Given the description of an element on the screen output the (x, y) to click on. 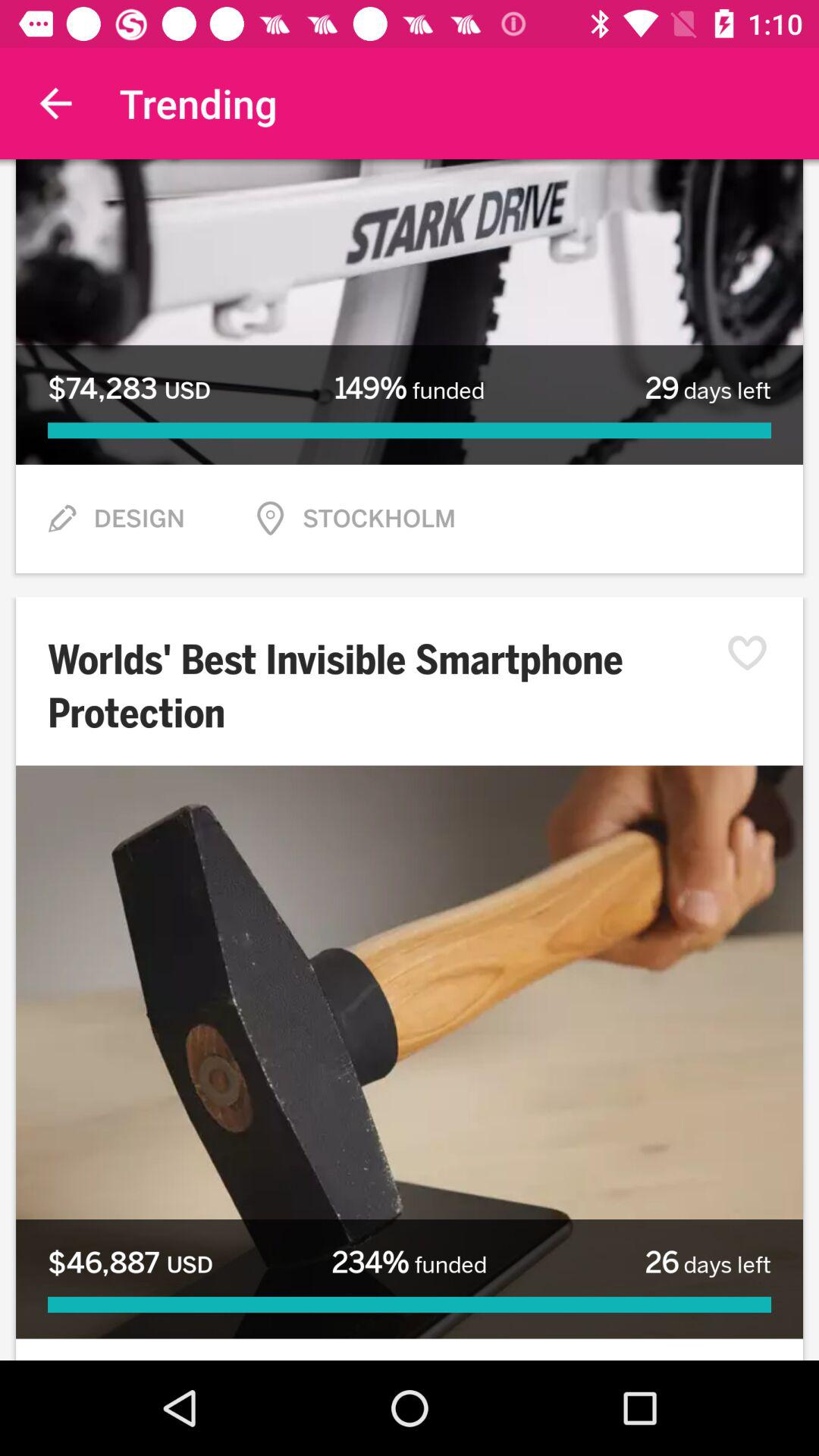
jump until the design (138, 518)
